Given the description of an element on the screen output the (x, y) to click on. 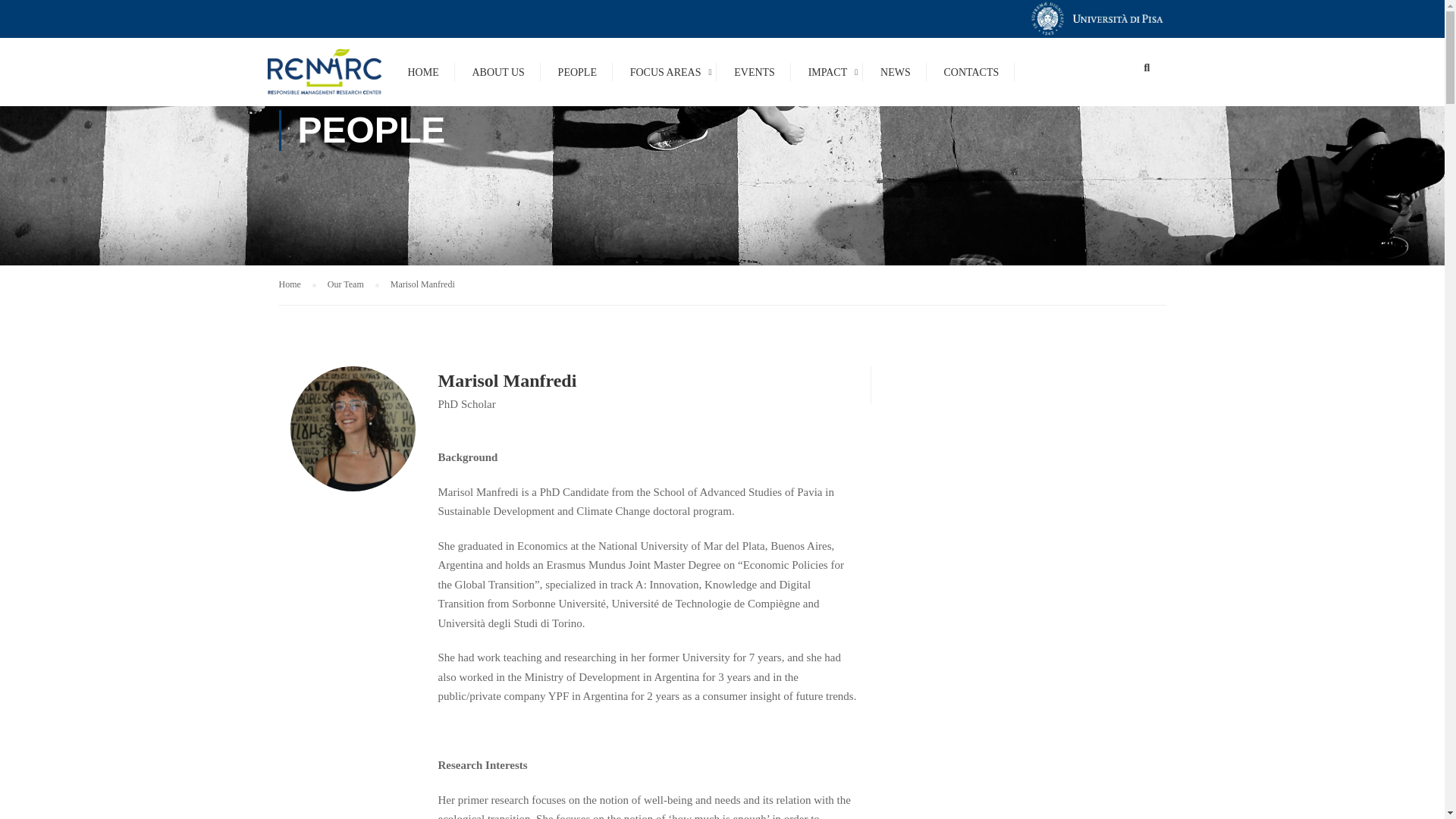
EVENTS (754, 79)
HOME (423, 79)
Home (297, 284)
IMPACT (828, 79)
Our Team (352, 284)
REMARC UniPi - RESPONSIBLE MANAGEMENT RESEARCH CENTER (323, 71)
Marisol Manfredi (422, 284)
Search (1147, 72)
Our Team (352, 284)
cv miri (351, 427)
